Given the description of an element on the screen output the (x, y) to click on. 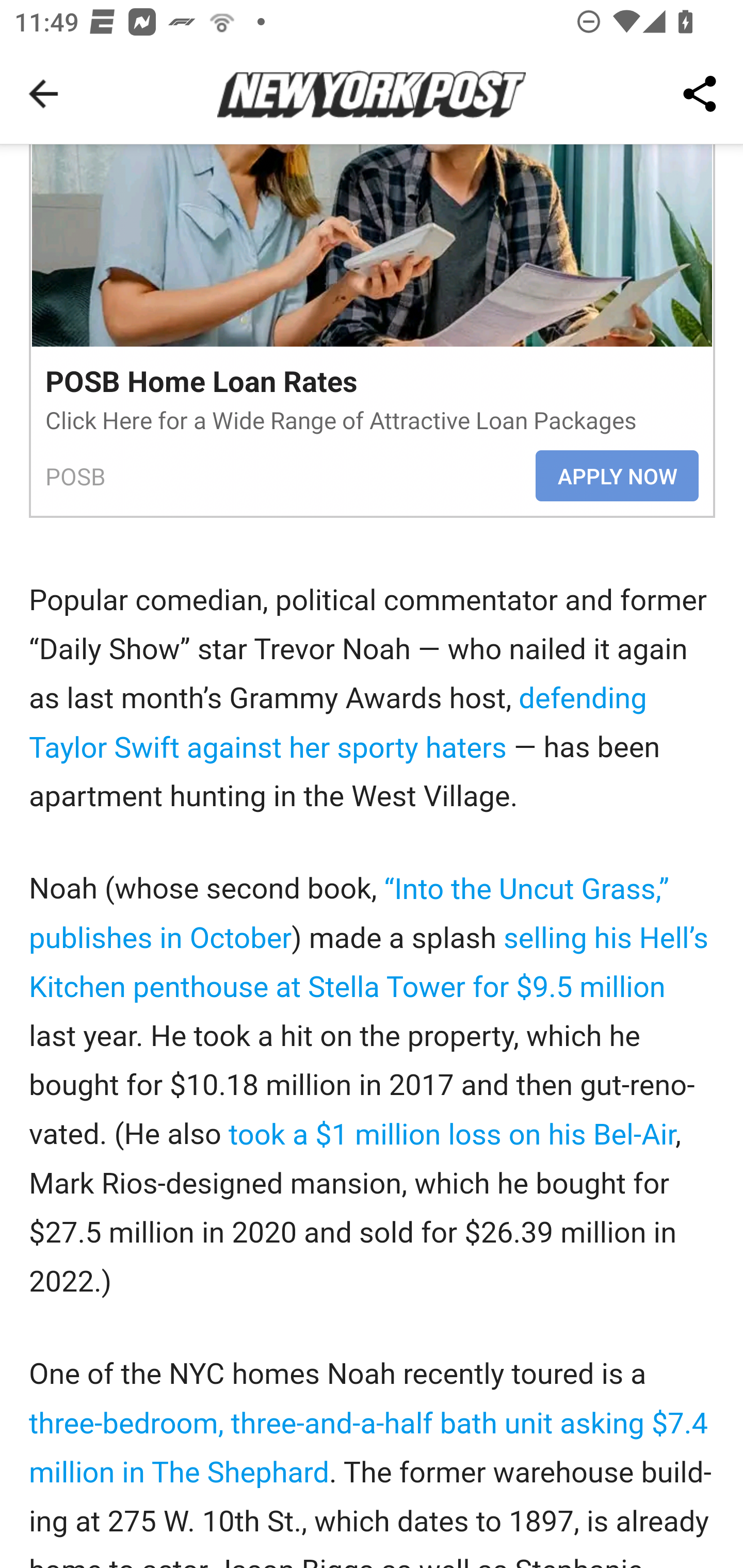
defending Taylor Swift against her sporty haters (337, 722)
“Into the Uncut Grass,” publishes in October (348, 912)
took a $1 million loss on his Bel-Air (451, 1133)
